Given the description of an element on the screen output the (x, y) to click on. 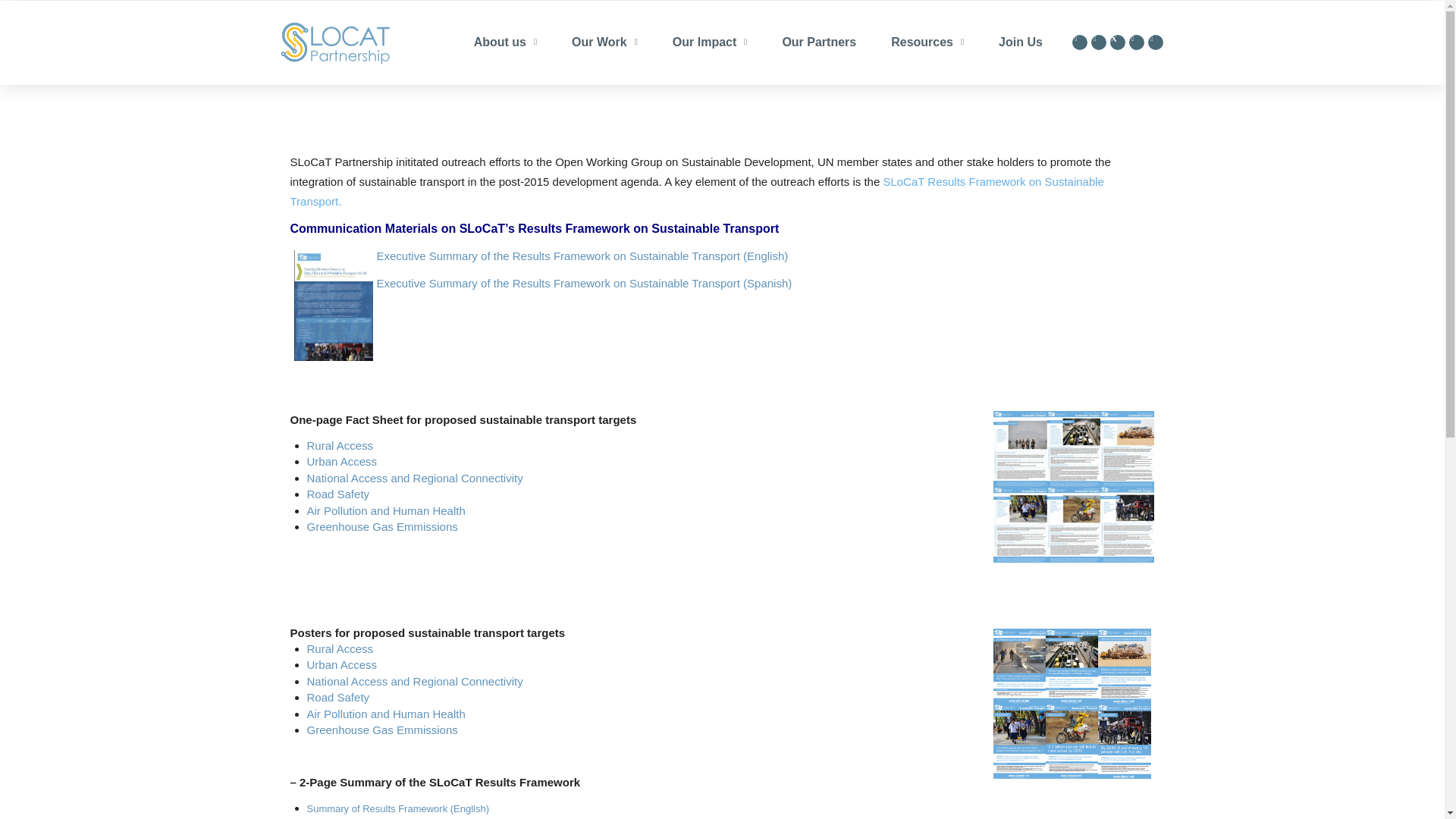
Join Us (1021, 41)
Our Partners (818, 41)
Resources (927, 41)
About us (504, 41)
Our Impact (710, 41)
Our Work (604, 41)
